Given the description of an element on the screen output the (x, y) to click on. 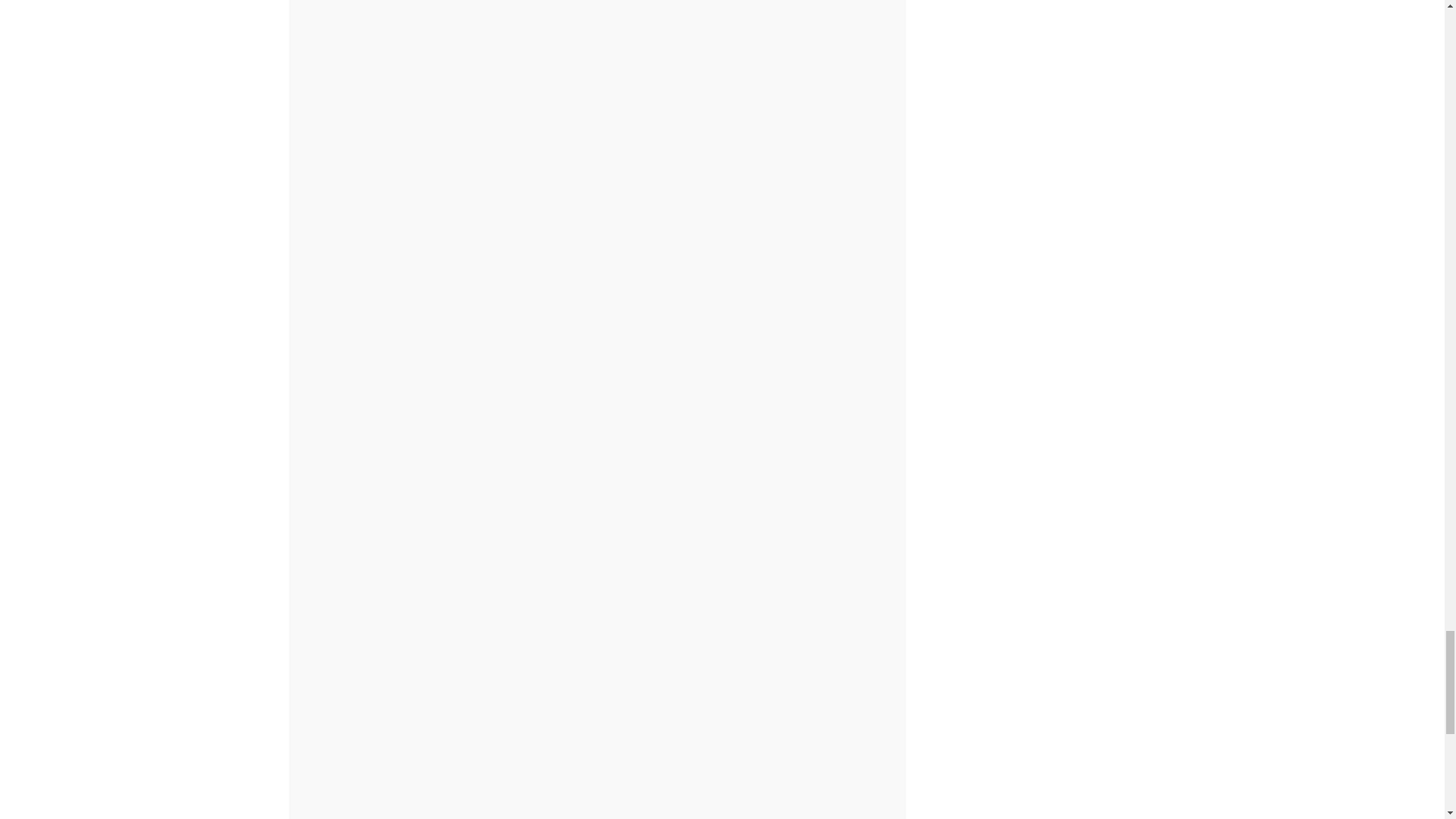
3 Stars (612, 55)
